Given the description of an element on the screen output the (x, y) to click on. 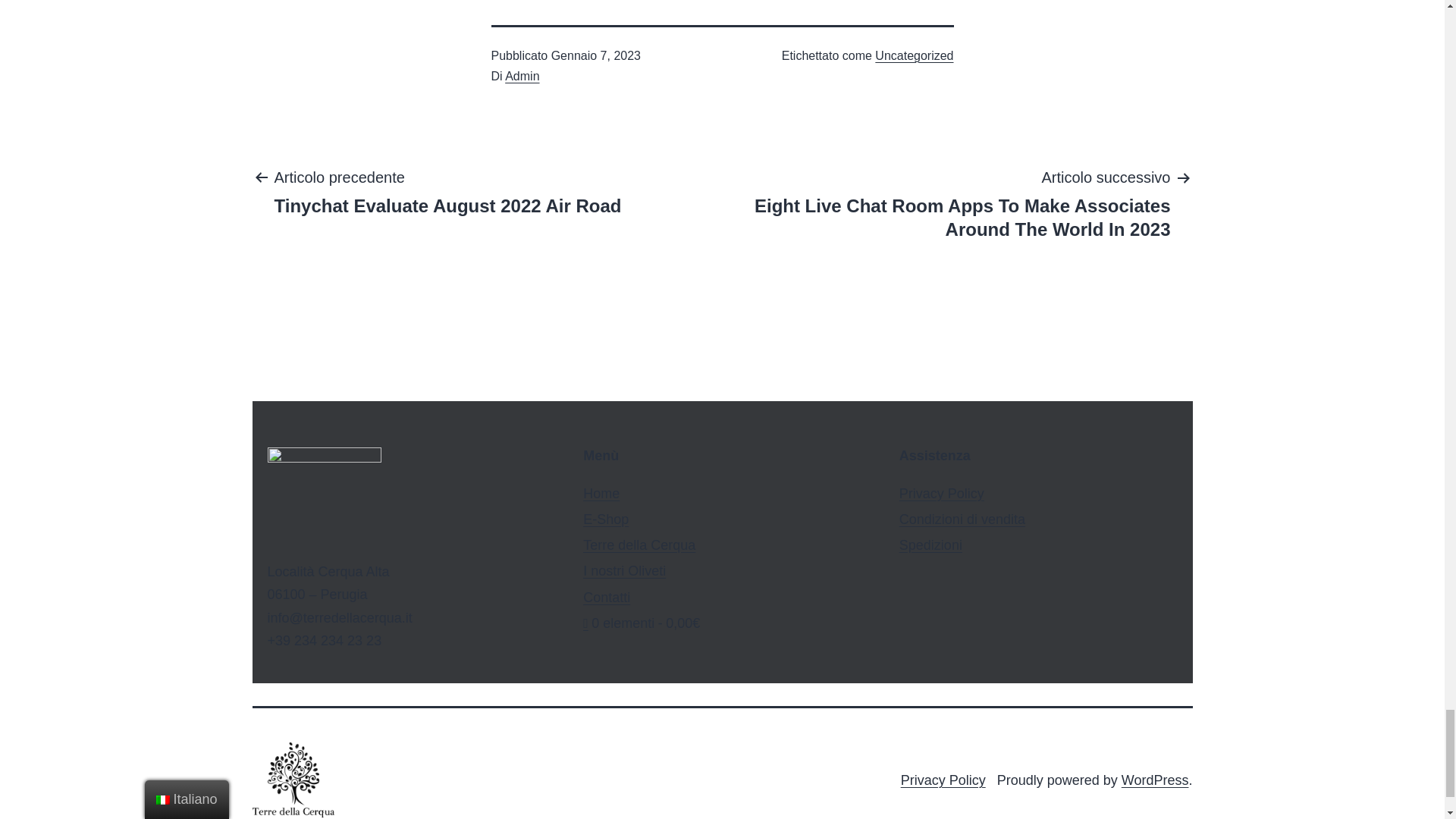
WordPress (447, 190)
Home (1155, 780)
Condizioni di vendita (601, 493)
Privacy Policy (962, 519)
Contatti (941, 493)
I nostri Oliveti (606, 597)
Vai al negozio (624, 570)
E-Shop (641, 622)
Terre della Cerqua (605, 519)
